Given the description of an element on the screen output the (x, y) to click on. 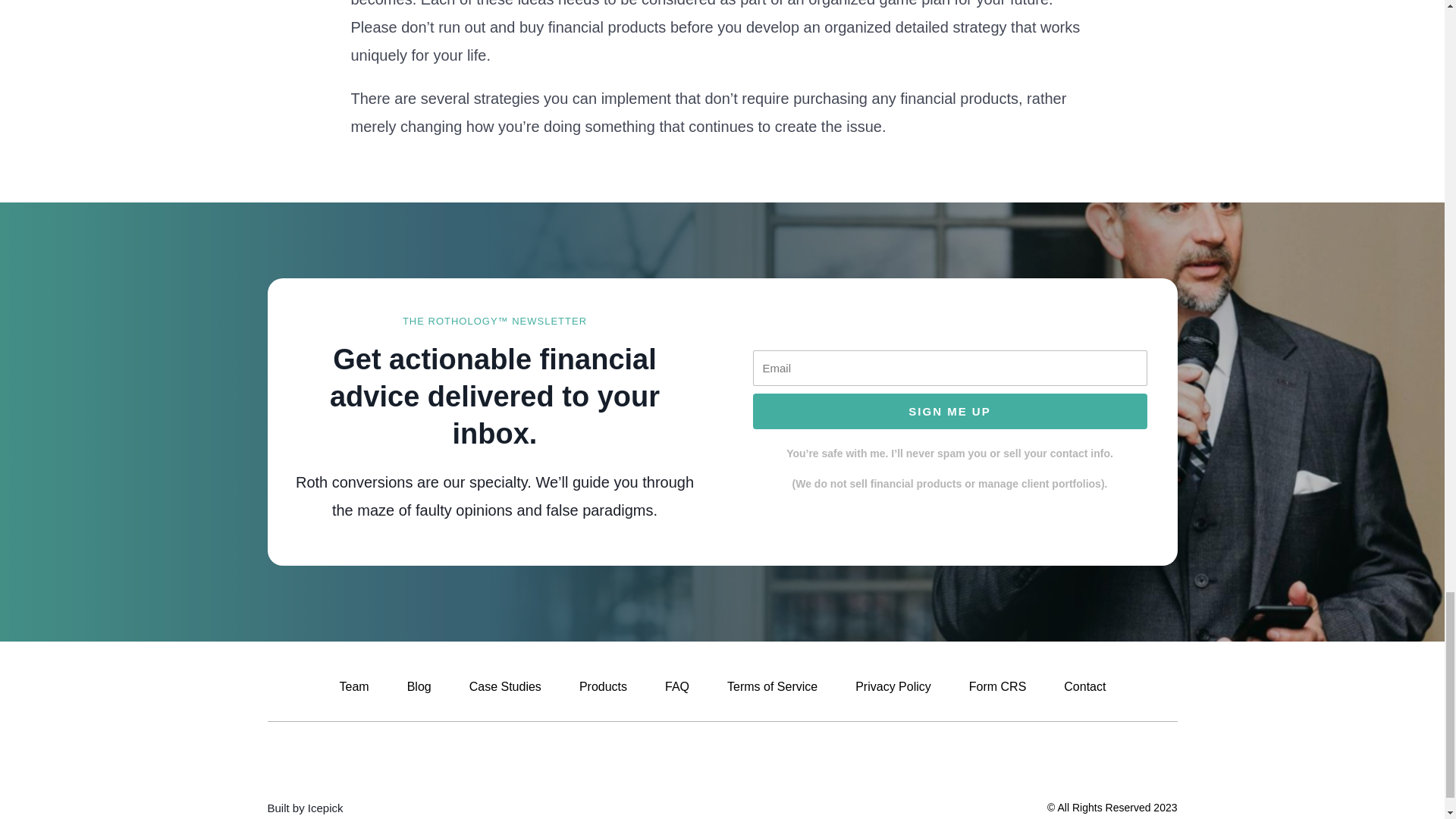
Case Studies (504, 686)
Blog (418, 686)
Form CRS (997, 686)
SIGN ME UP (949, 411)
Contact (1084, 686)
Privacy Policy (893, 686)
FAQ (676, 686)
Built by Icepick (304, 807)
Terms of Service (771, 686)
Products (602, 686)
Team (353, 686)
